Given the description of an element on the screen output the (x, y) to click on. 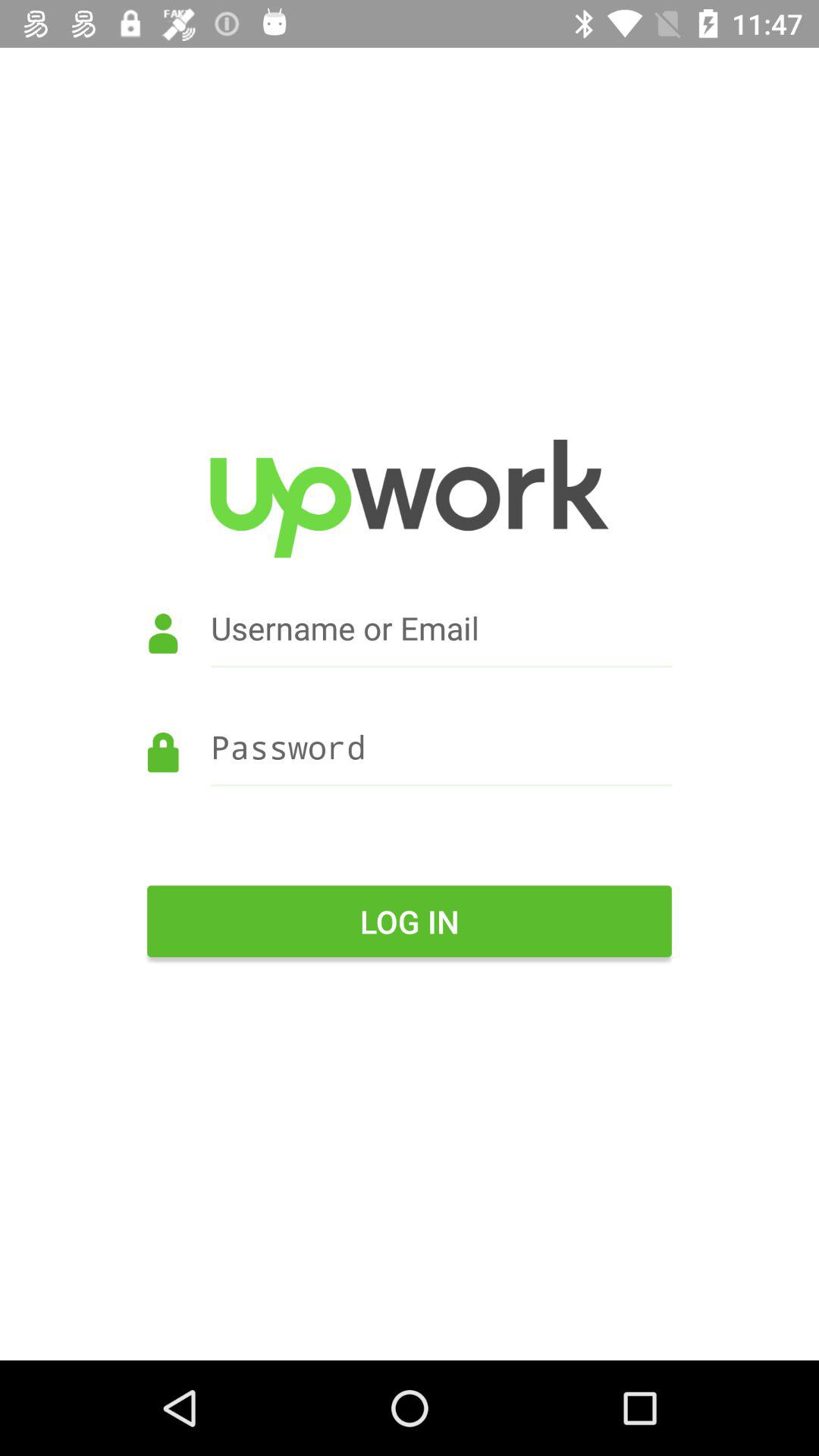
enter password (409, 768)
